Given the description of an element on the screen output the (x, y) to click on. 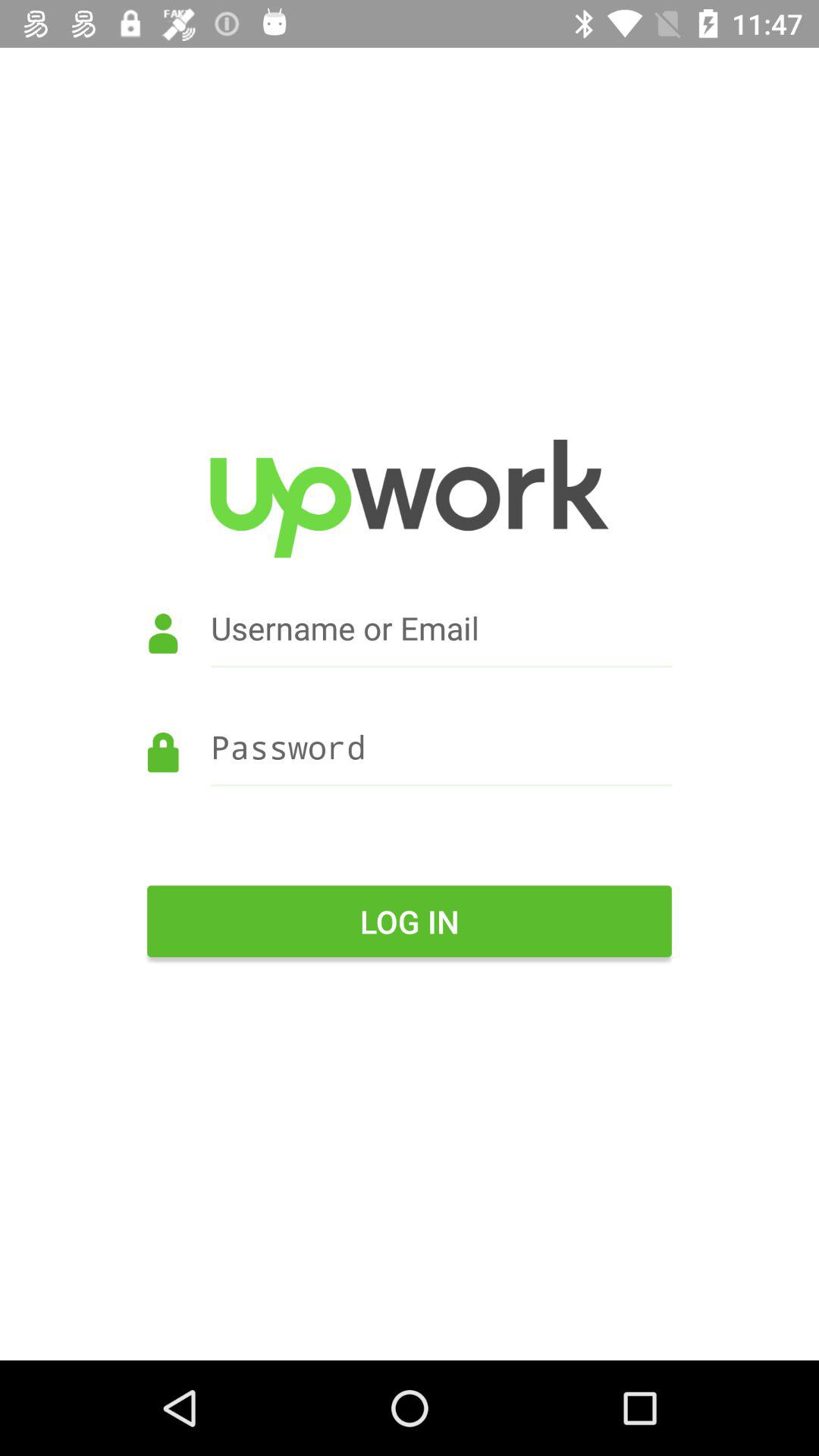
enter password (409, 768)
